Given the description of an element on the screen output the (x, y) to click on. 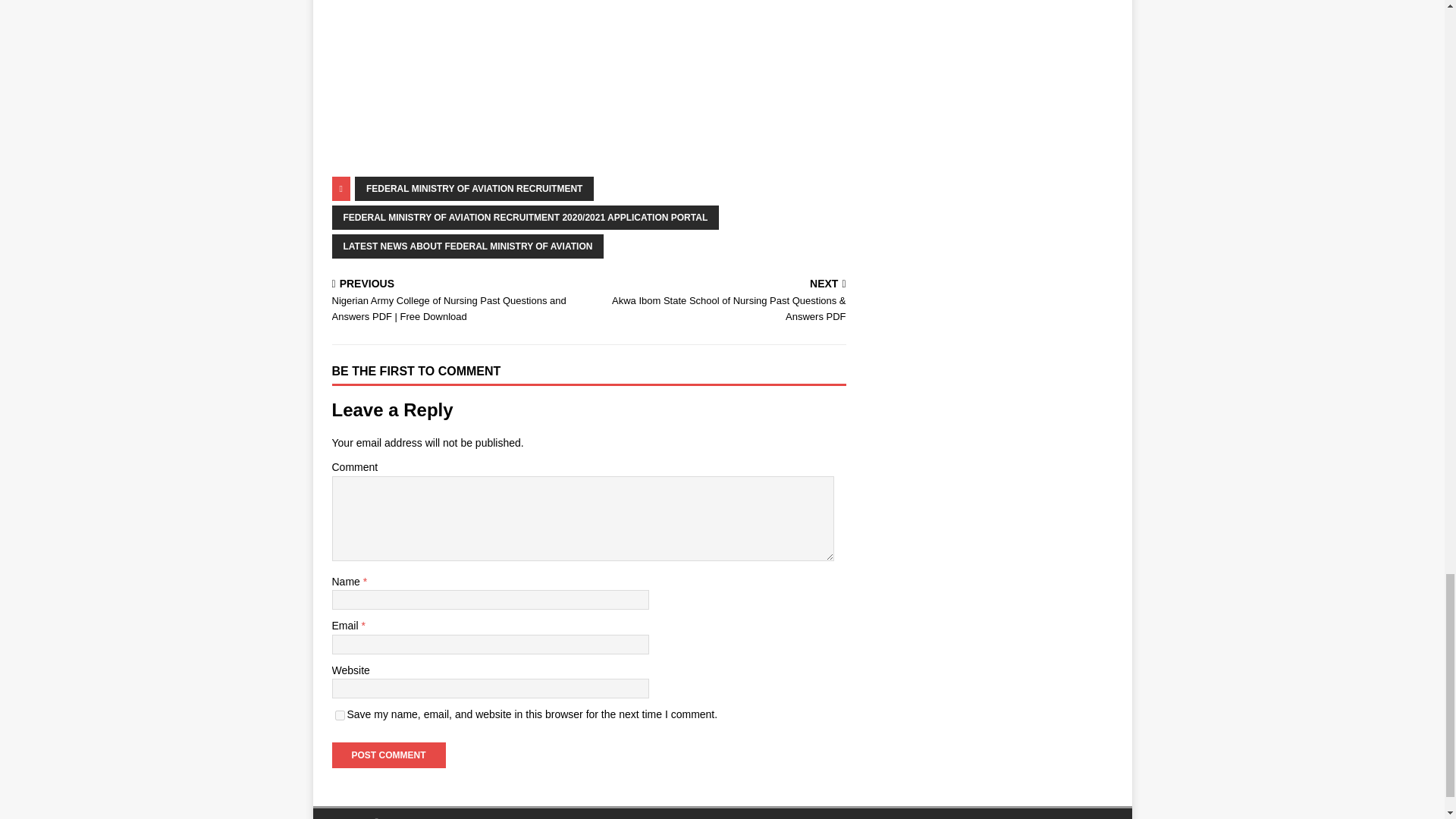
LATEST NEWS ABOUT FEDERAL MINISTRY OF AVIATION (467, 246)
FEDERAL MINISTRY OF AVIATION RECRUITMENT (474, 188)
yes (339, 715)
Post Comment (388, 754)
Post Comment (388, 754)
